Given the description of an element on the screen output the (x, y) to click on. 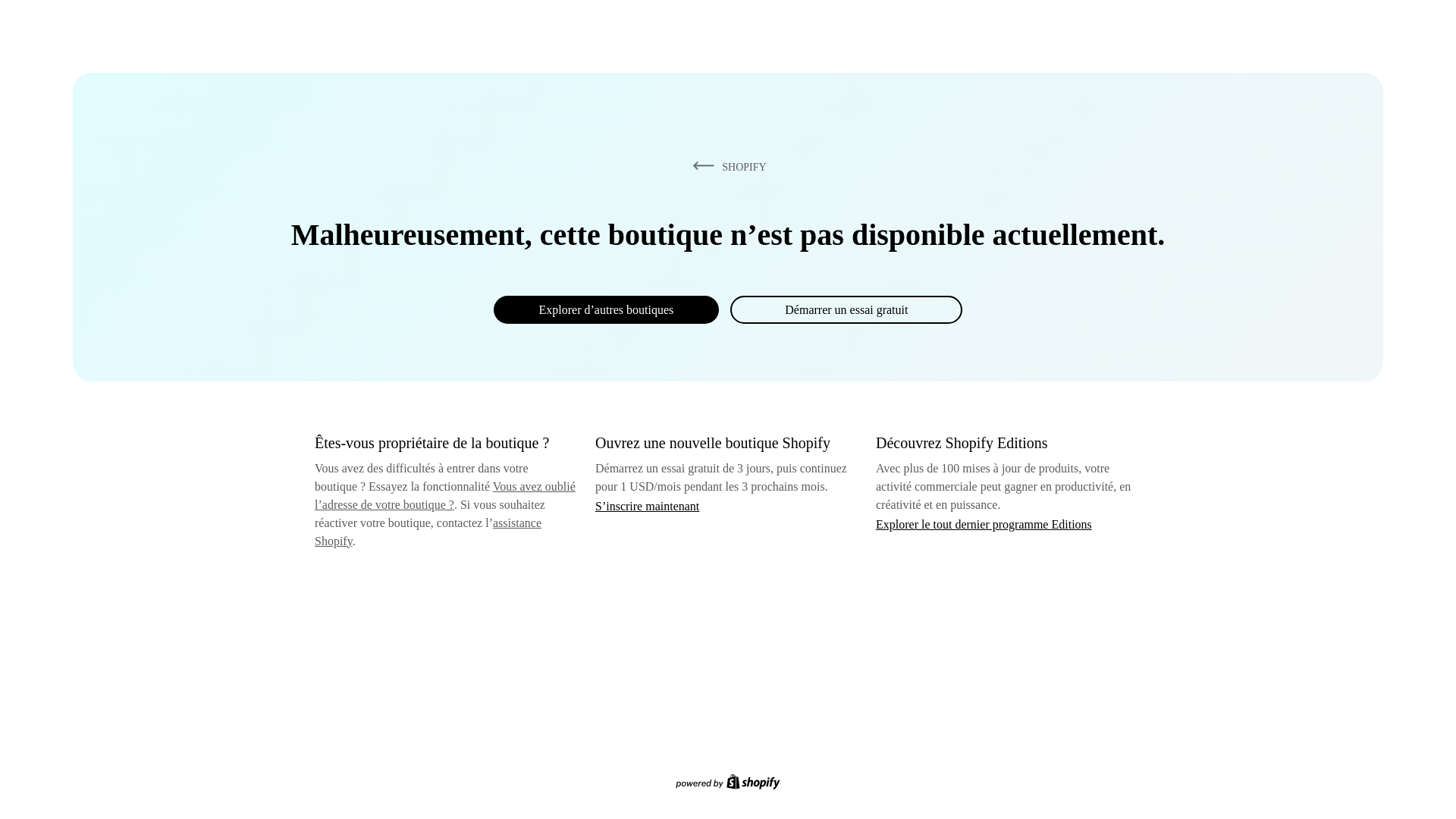
SHOPIFY (726, 166)
assistance Shopify (427, 531)
Explorer le tout dernier programme Editions (984, 523)
